Given the description of an element on the screen output the (x, y) to click on. 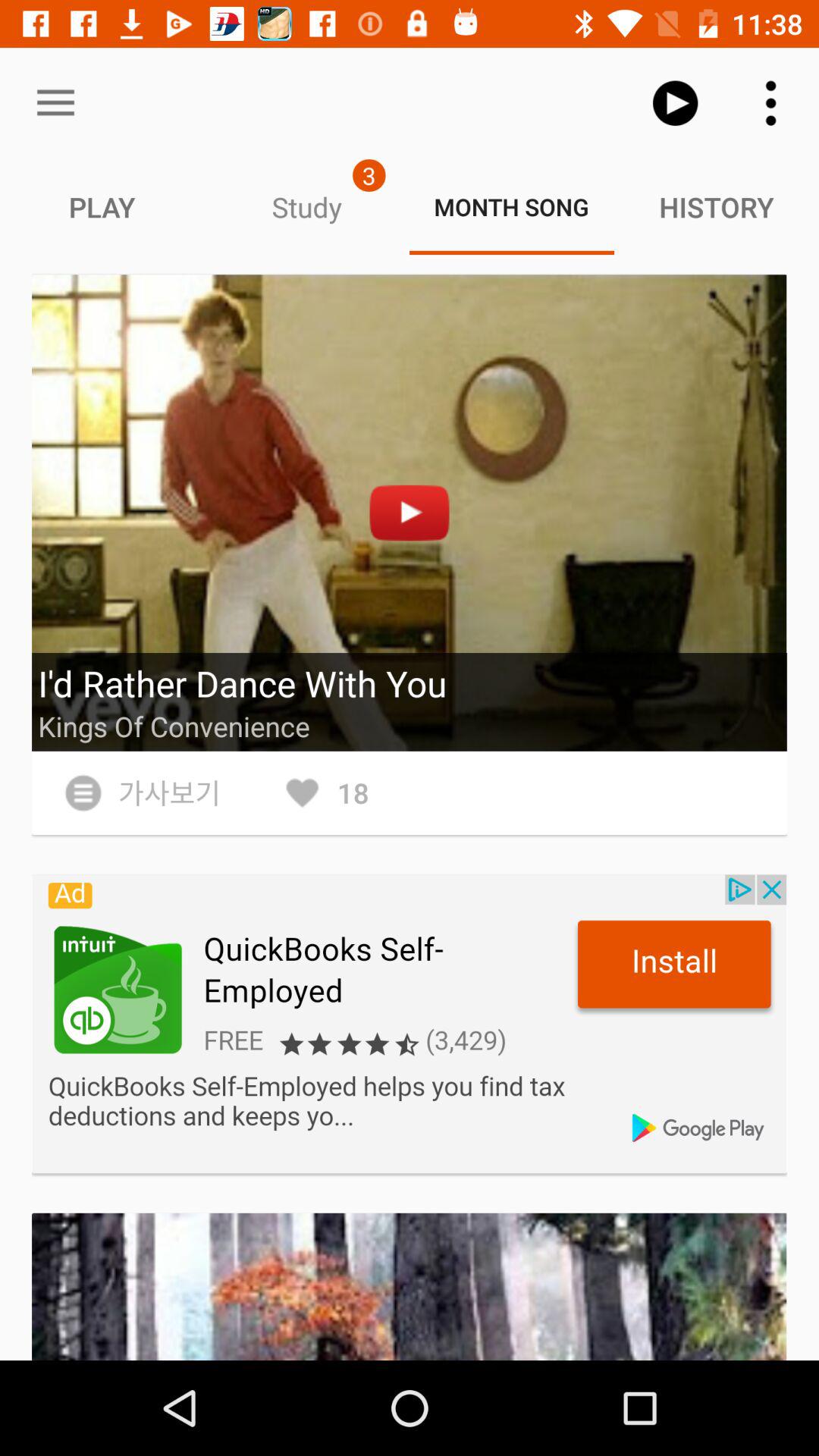
go to the video (409, 512)
